Given the description of an element on the screen output the (x, y) to click on. 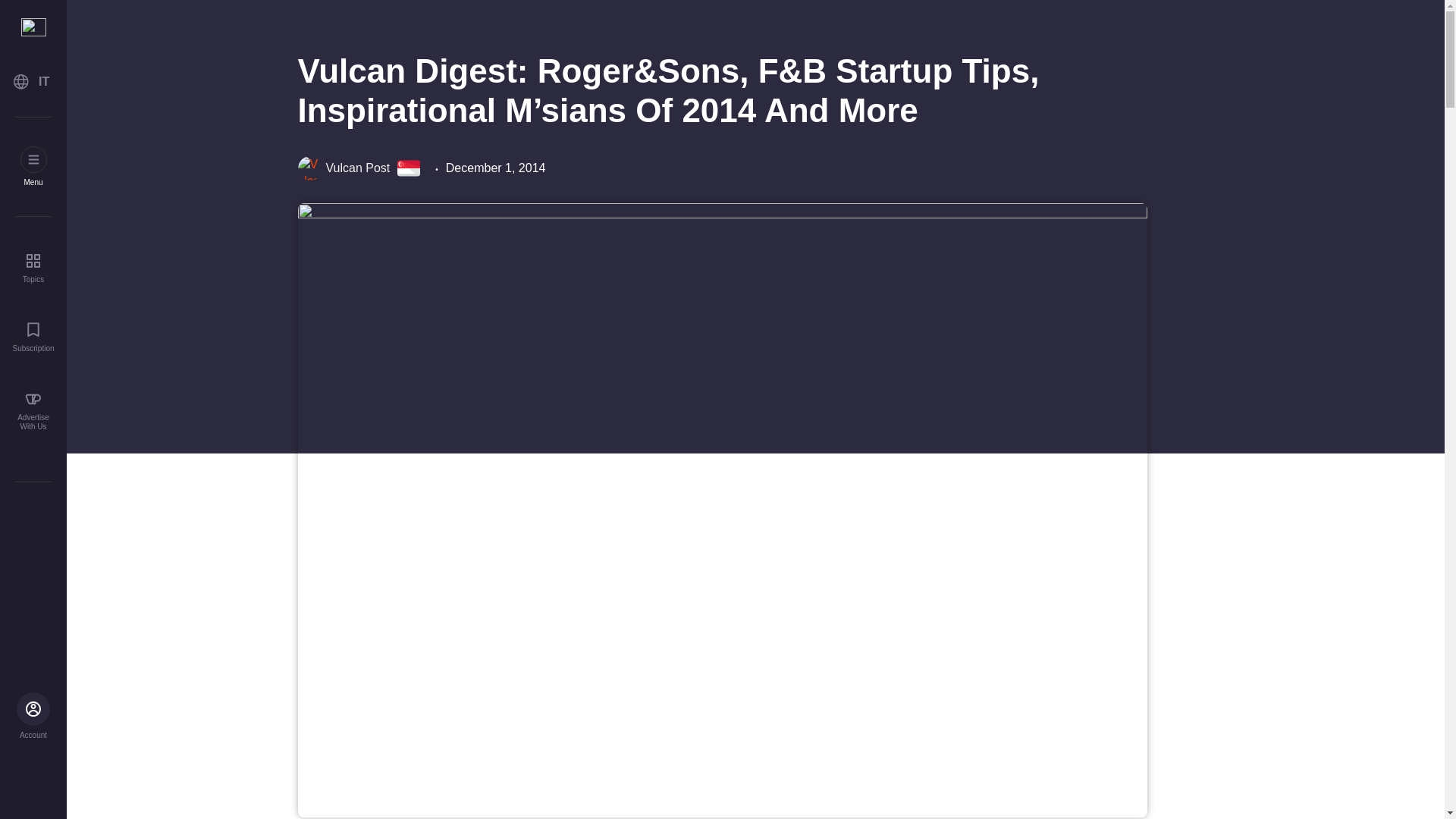
Menu (33, 166)
Topics (33, 267)
IT (33, 81)
Vulcan Post (343, 168)
Subscription (33, 336)
Advertise With Us (33, 410)
